Given the description of an element on the screen output the (x, y) to click on. 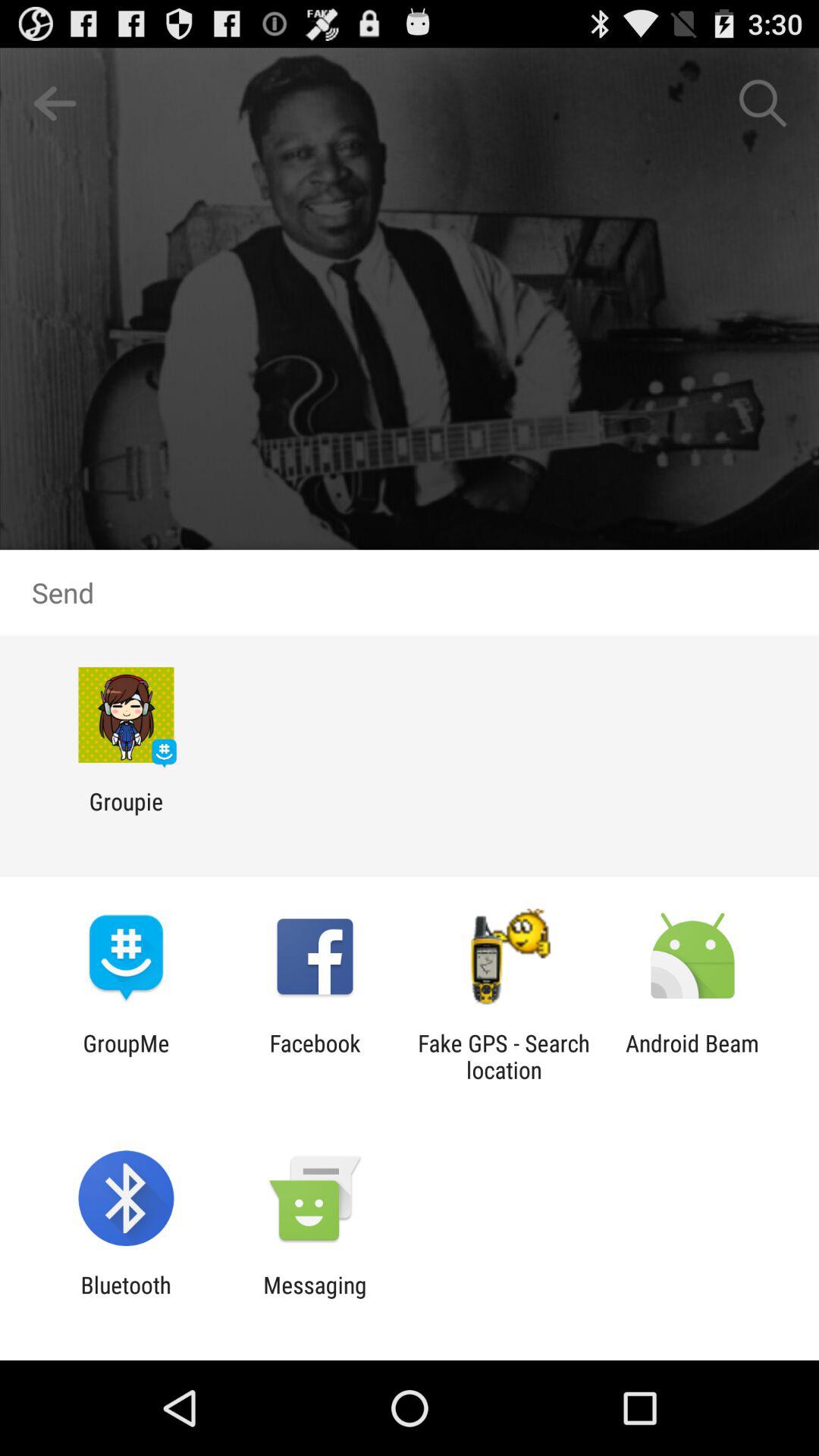
tap fake gps search app (503, 1056)
